Given the description of an element on the screen output the (x, y) to click on. 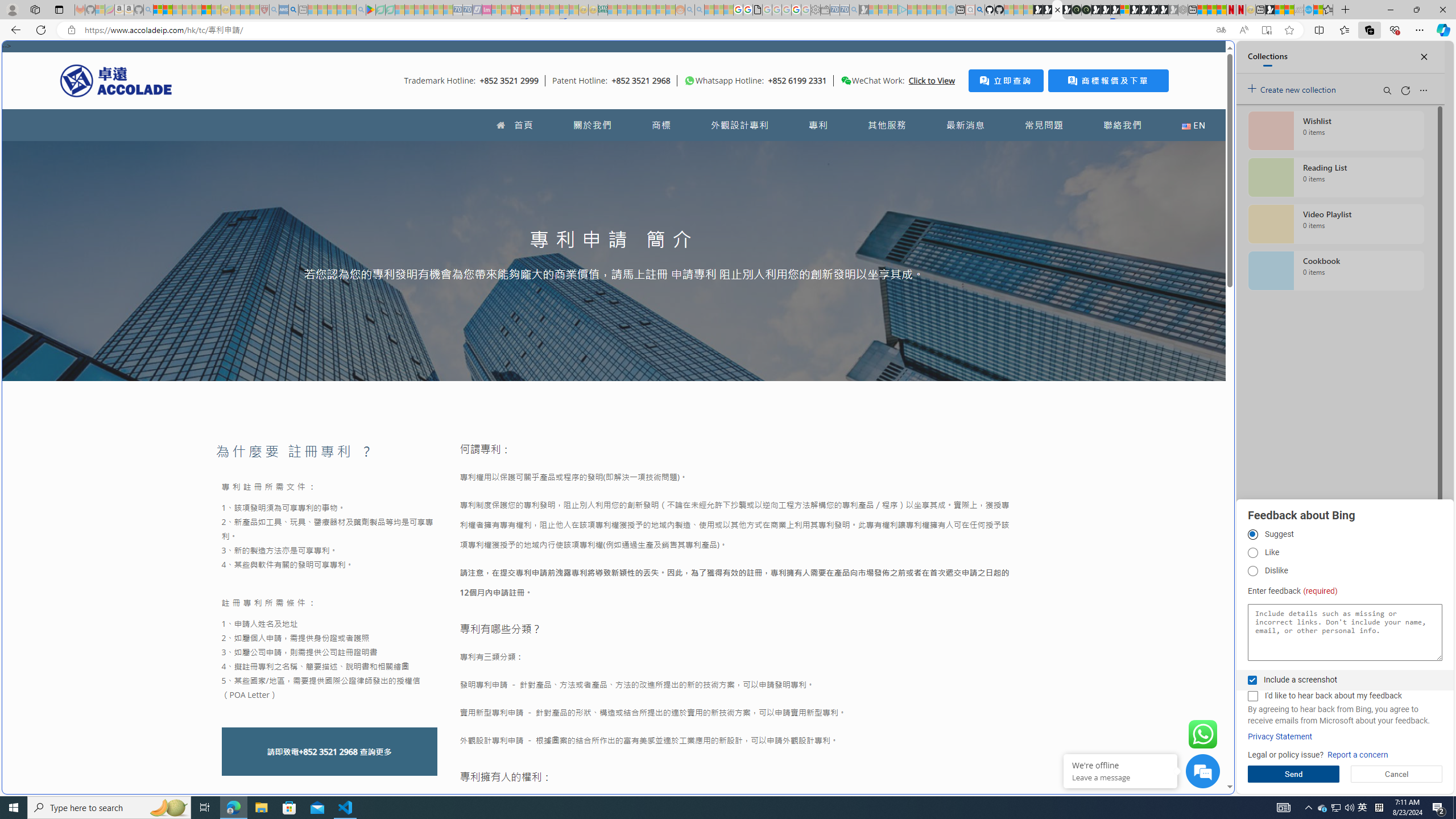
Cheap Hotels - Save70.com - Sleeping (467, 9)
Kinda Frugal - MSN - Sleeping (651, 9)
Services - Maintenance | Sky Blue Bikes - Sky Blue Bikes (1307, 9)
Dislike (1252, 570)
Class: desktop (845, 80)
Enter Immersive Reader (F9) (1266, 29)
